Given the description of an element on the screen output the (x, y) to click on. 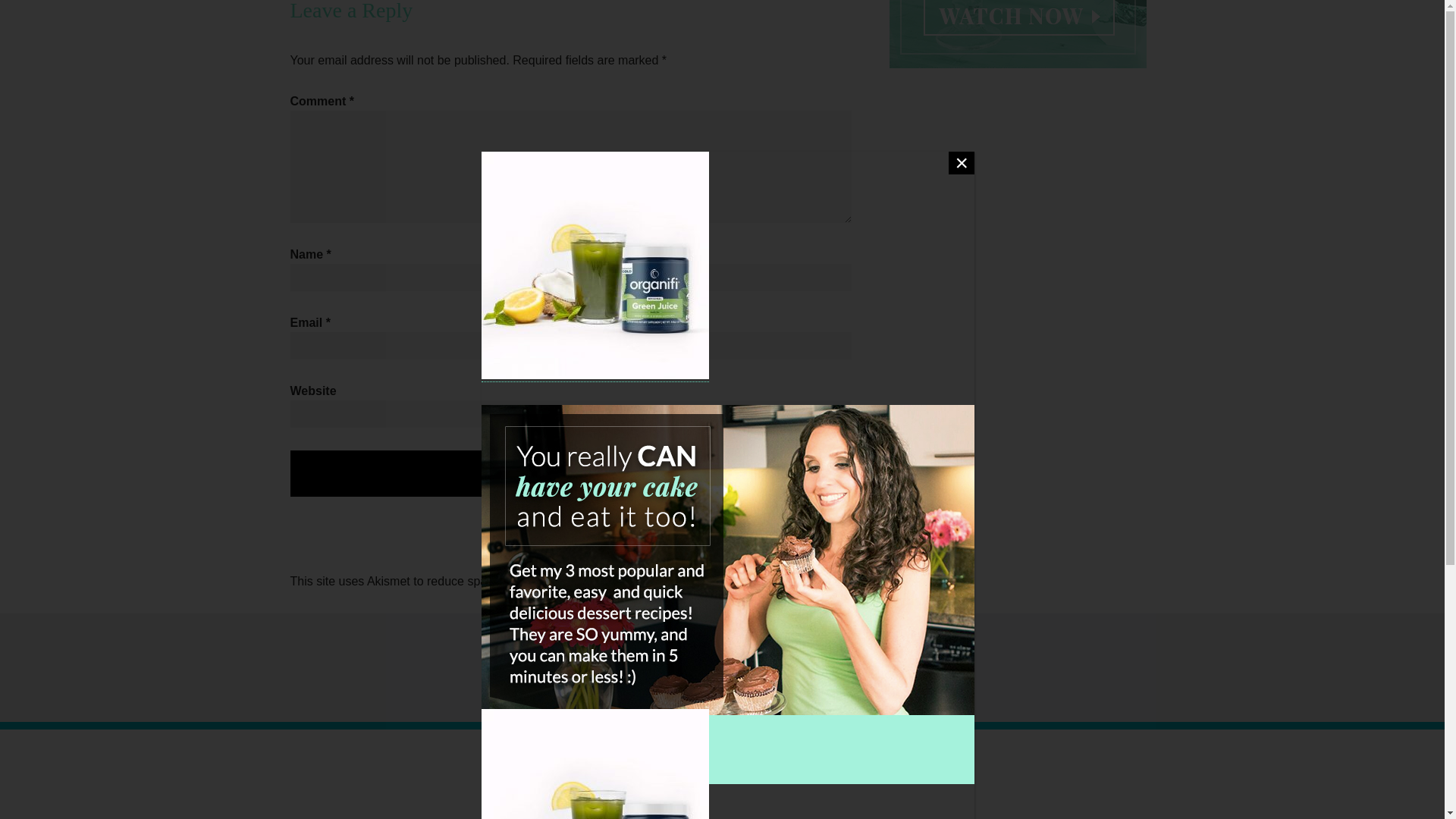
Get it now (878, 17)
Post Comment (569, 473)
